Given the description of an element on the screen output the (x, y) to click on. 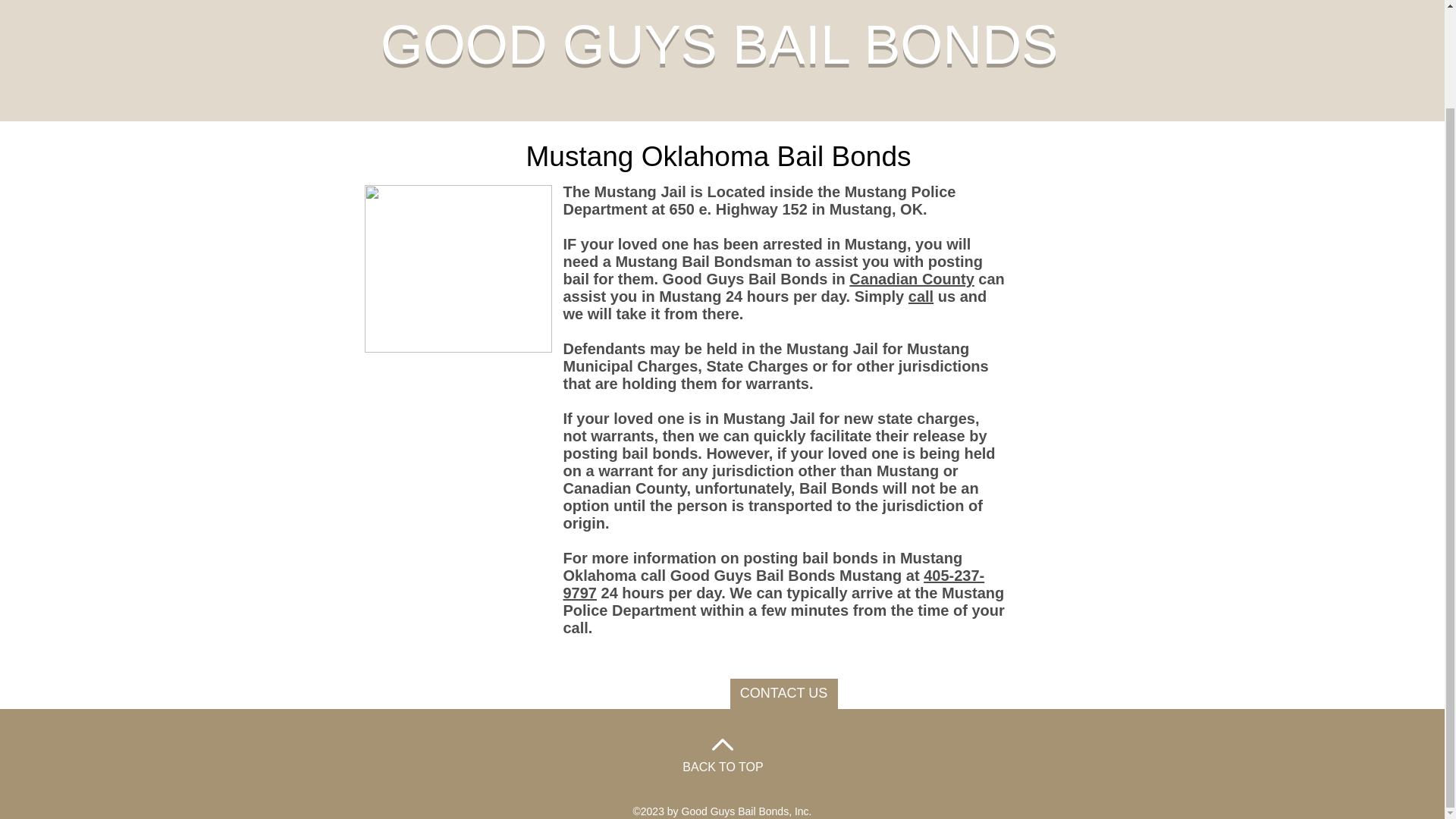
call (920, 296)
405-237-9797 (773, 584)
Canadian County (911, 279)
BACK TO TOP (722, 766)
